Given the description of an element on the screen output the (x, y) to click on. 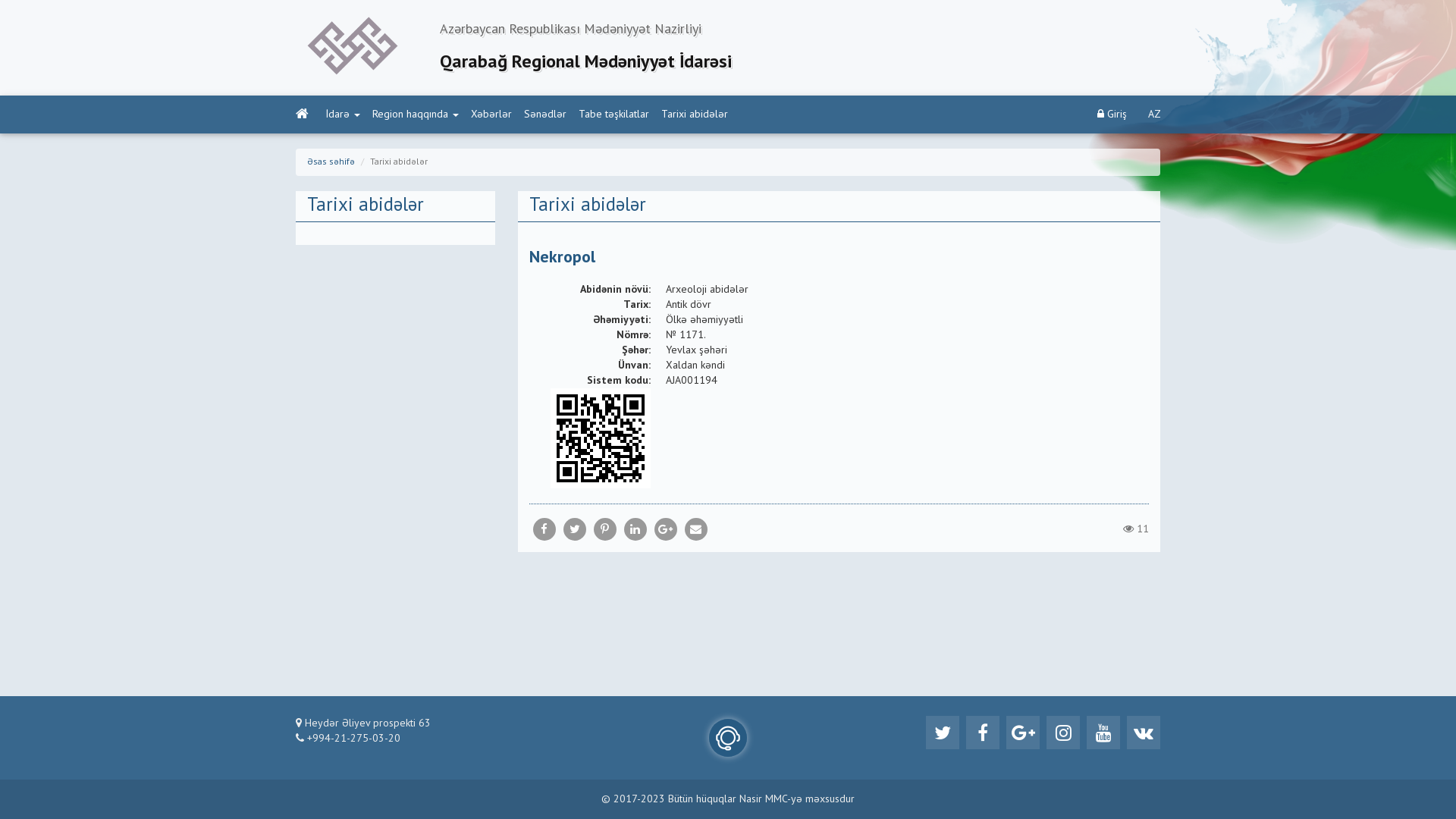
AZ Element type: text (1154, 114)
https://barda.mct.az/az/monview/361/1245/Nekropol Element type: hover (695, 528)
